Given the description of an element on the screen output the (x, y) to click on. 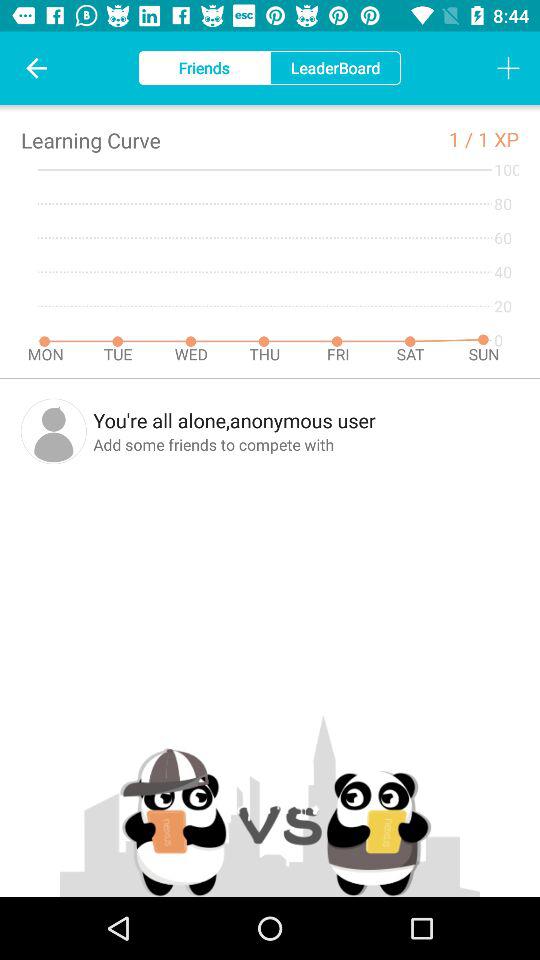
turn off the icon next to you re all (53, 431)
